Given the description of an element on the screen output the (x, y) to click on. 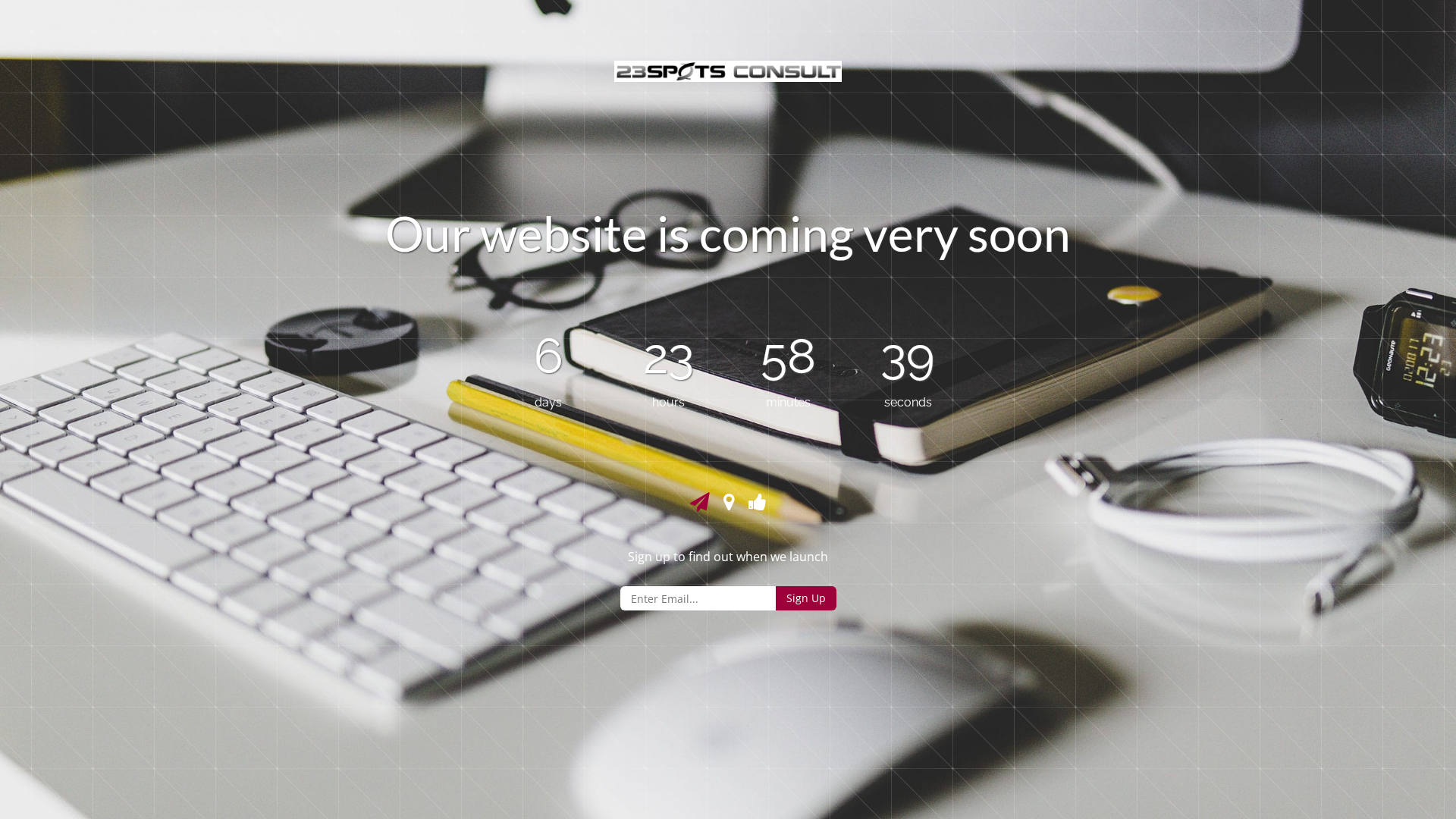
Sign Up Element type: text (805, 598)
